Given the description of an element on the screen output the (x, y) to click on. 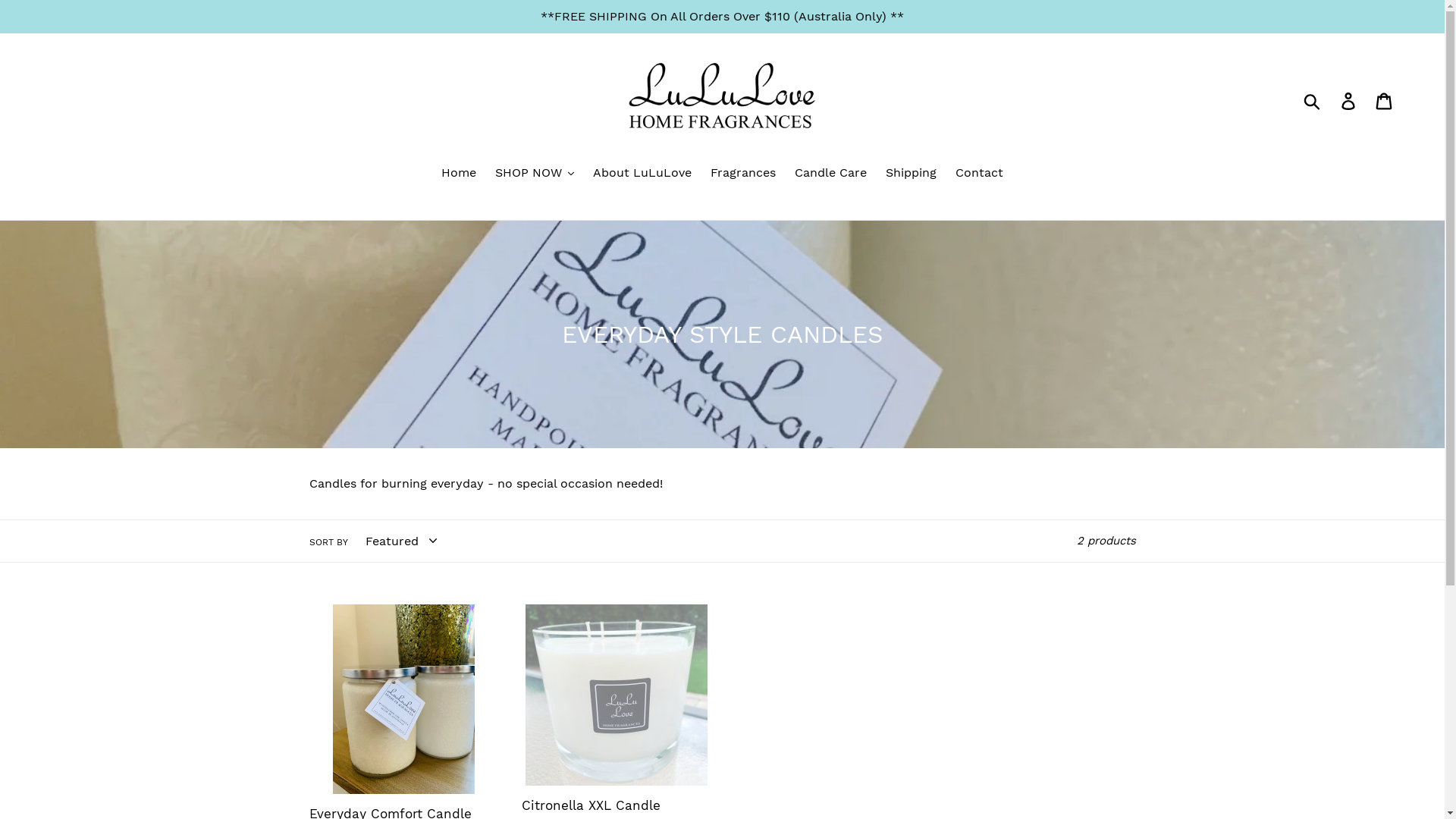
About LuLuLove Element type: text (642, 173)
Shipping Element type: text (911, 173)
Log in Element type: text (1349, 100)
**FREE SHIPPING On All Orders Over $110 (Australia Only) ** Element type: text (722, 16)
Cart Element type: text (1384, 100)
Fragrances Element type: text (742, 173)
Contact Element type: text (978, 173)
Candle Care Element type: text (830, 173)
Submit Element type: text (1312, 99)
Home Element type: text (458, 173)
